Given the description of an element on the screen output the (x, y) to click on. 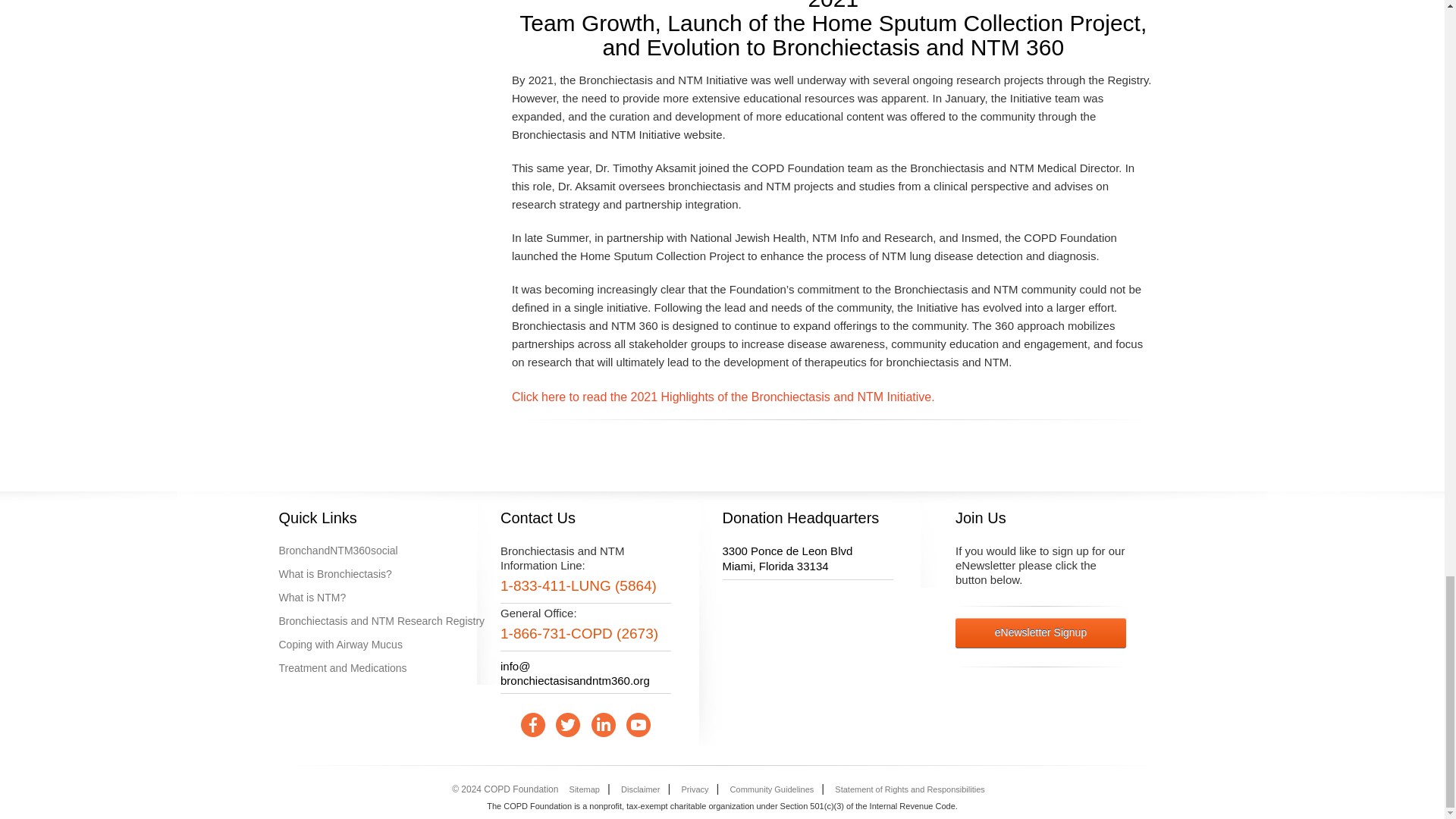
LinkedIn (603, 724)
Facebook (532, 724)
Twitter (567, 724)
YouTube (638, 724)
